Given the description of an element on the screen output the (x, y) to click on. 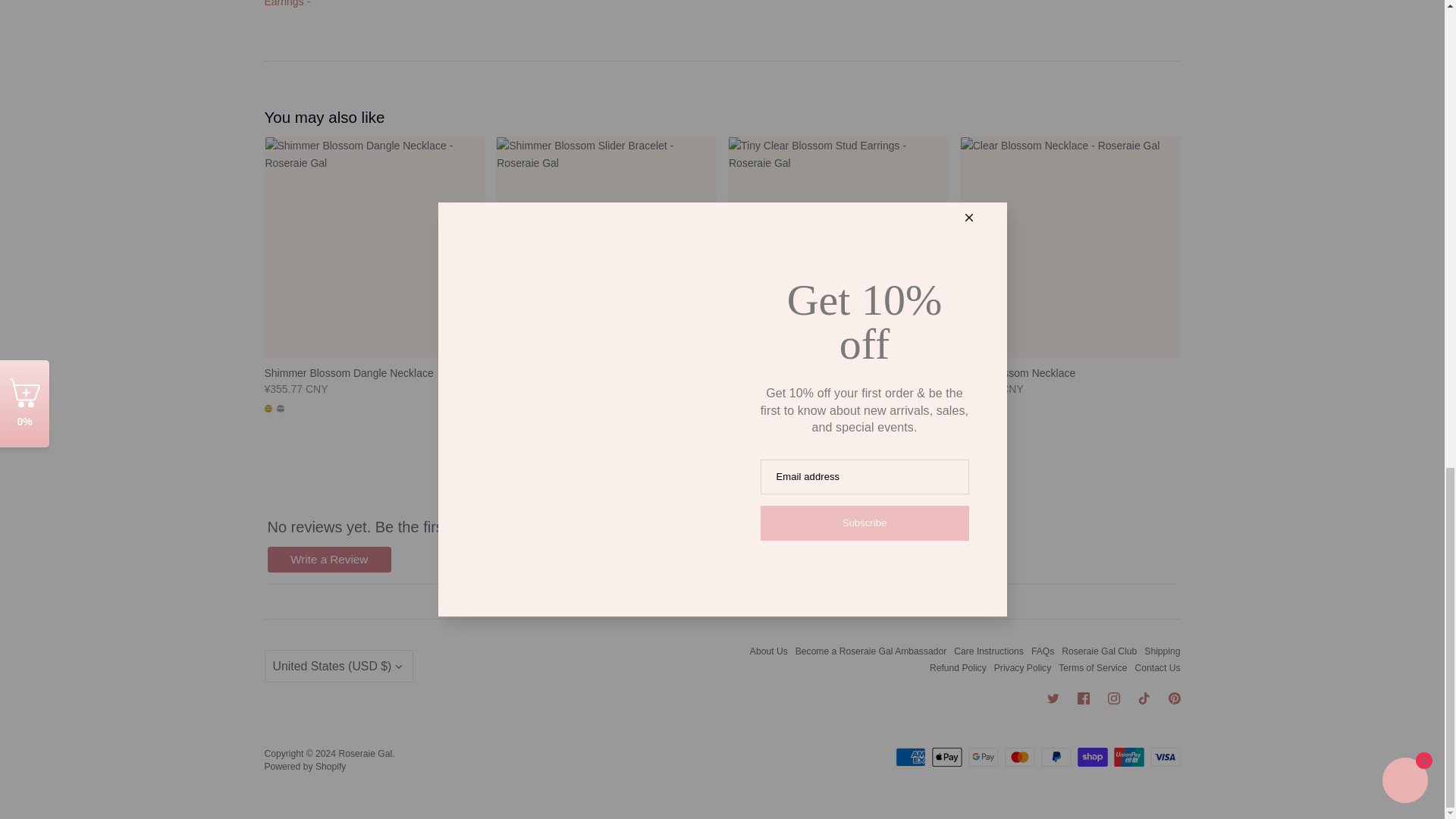
PayPal (1056, 756)
Google Pay (983, 756)
Mastercard (1019, 756)
Apple Pay (946, 756)
American Express (910, 756)
